Given the description of an element on the screen output the (x, y) to click on. 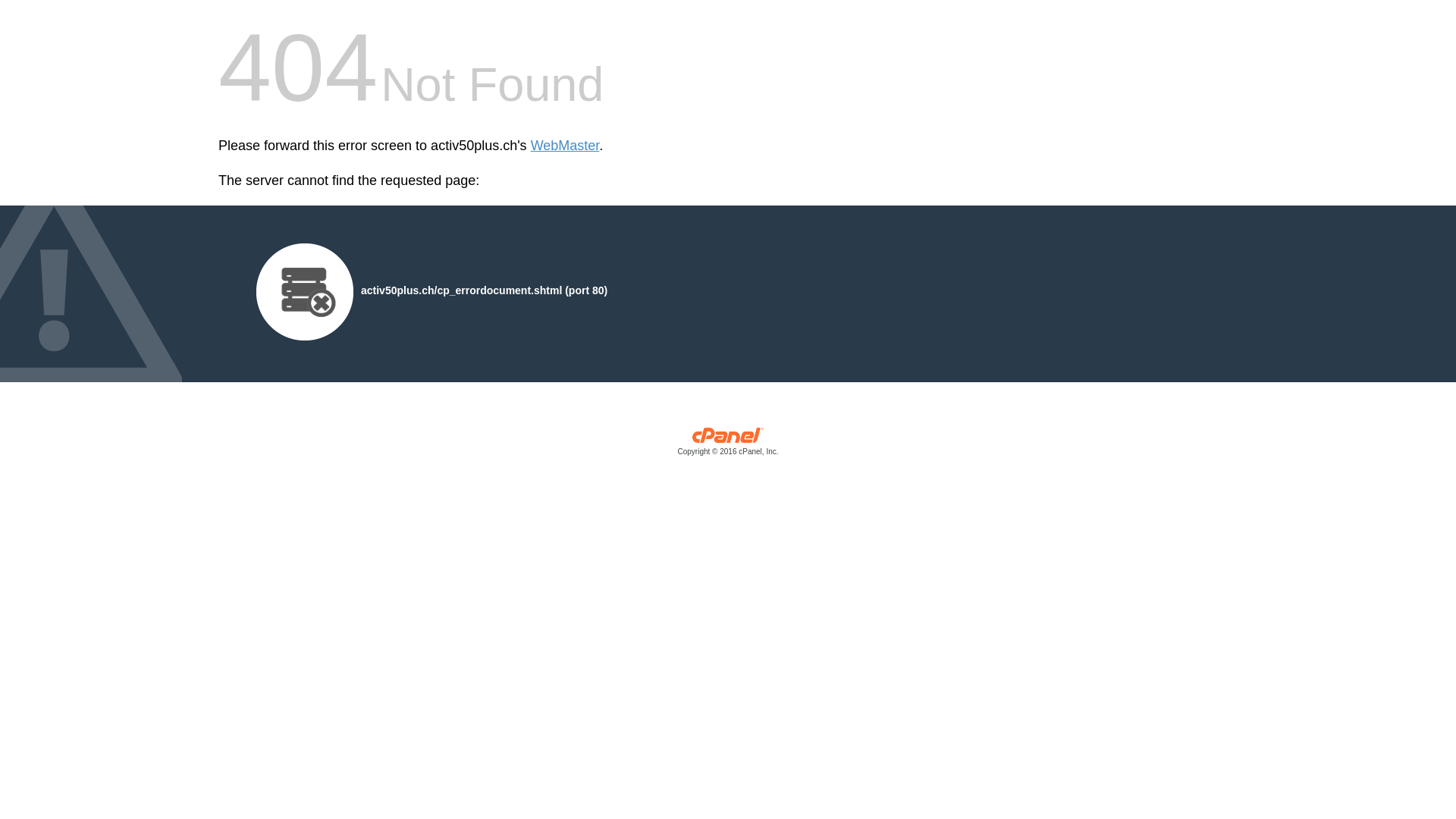
WebMaster Element type: text (564, 145)
